Given the description of an element on the screen output the (x, y) to click on. 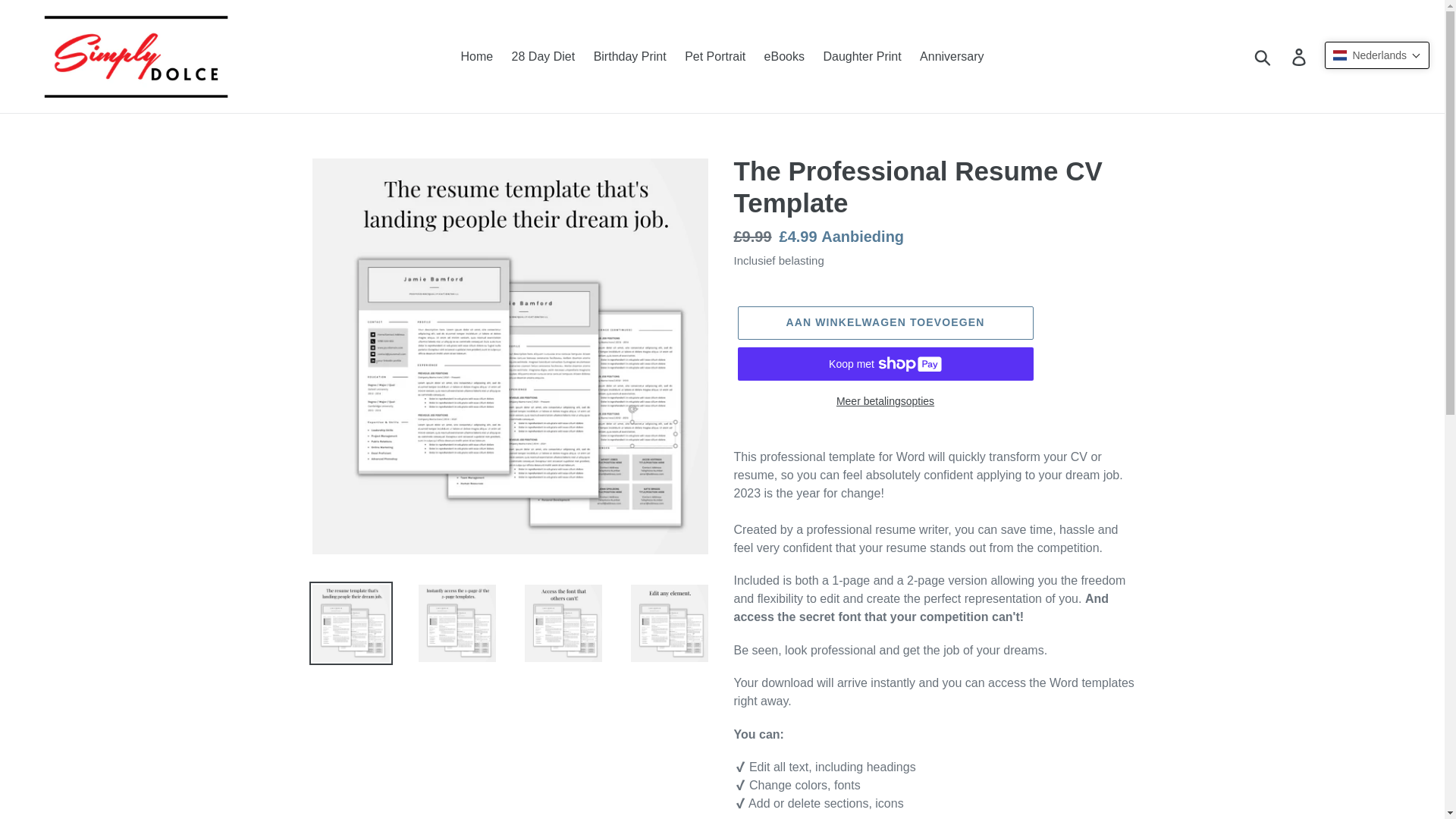
28 Day Diet (543, 56)
Anniversary (951, 56)
Daughter Print (861, 56)
Pet Portrait (714, 56)
AAN WINKELWAGEN TOEVOEGEN (884, 322)
Meer betalingsopties (884, 401)
Indienen (1263, 55)
eBooks (784, 56)
Winkelwagen (1335, 55)
Home (476, 56)
Birthday Print (630, 56)
Aanmelden (1299, 55)
